Given the description of an element on the screen output the (x, y) to click on. 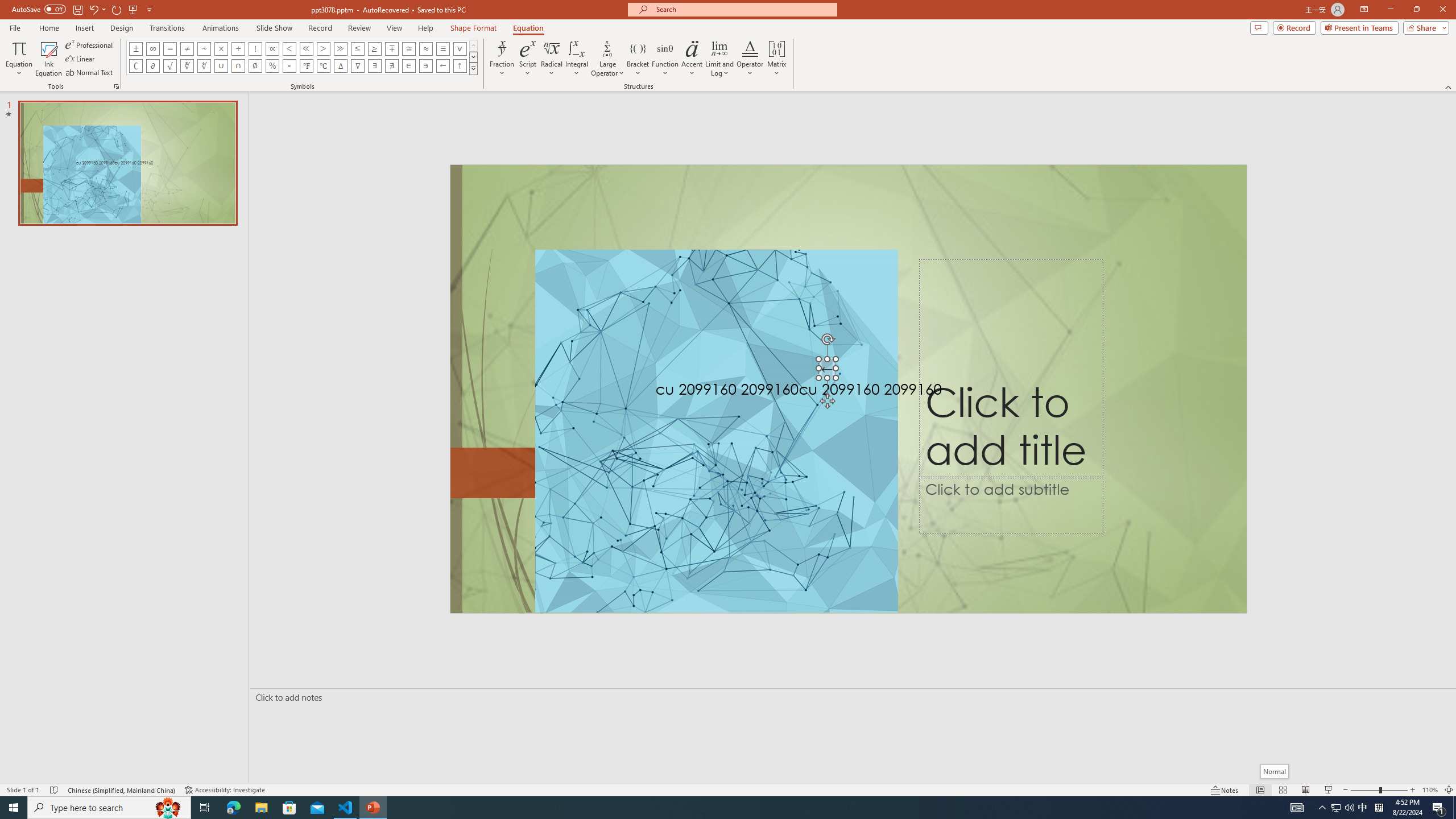
Equation Symbol Infinity (152, 48)
Equation Symbol Complement (136, 65)
Linear (81, 58)
Equation Symbols (472, 68)
Equation Symbol Division Sign (238, 48)
Equation Symbol Not Equal To (187, 48)
Equation Symbol Up Arrow (459, 65)
Script (527, 58)
